Given the description of an element on the screen output the (x, y) to click on. 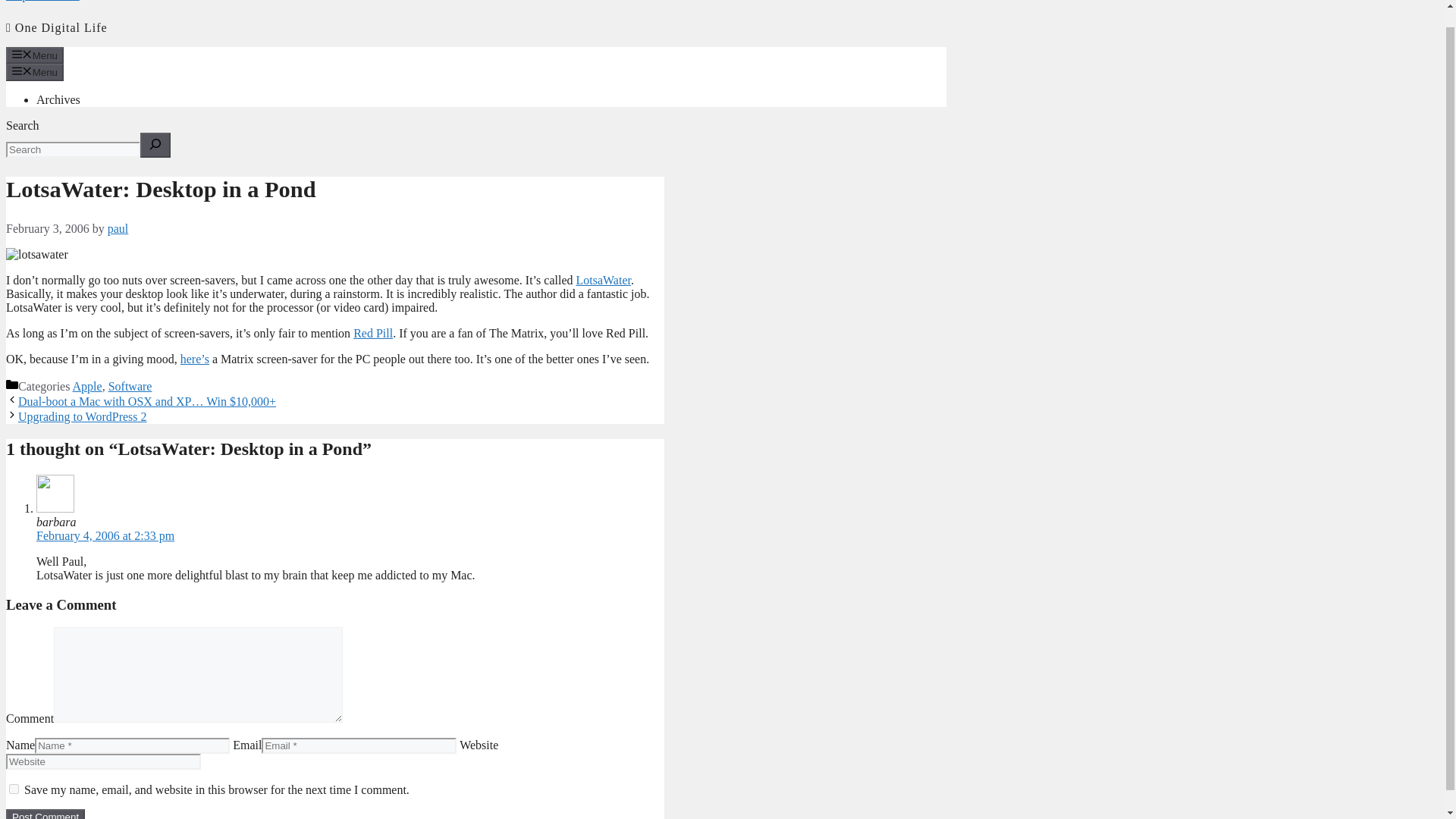
Apple (86, 386)
paul (118, 228)
Upgrading to WordPress 2 (82, 416)
yes (13, 788)
Red Pill (373, 332)
View all posts by paul (118, 228)
LotsaWater (602, 279)
Skip to content (42, 0)
Skip to content (42, 0)
February 4, 2006 at 2:33 pm (105, 535)
